Given the description of an element on the screen output the (x, y) to click on. 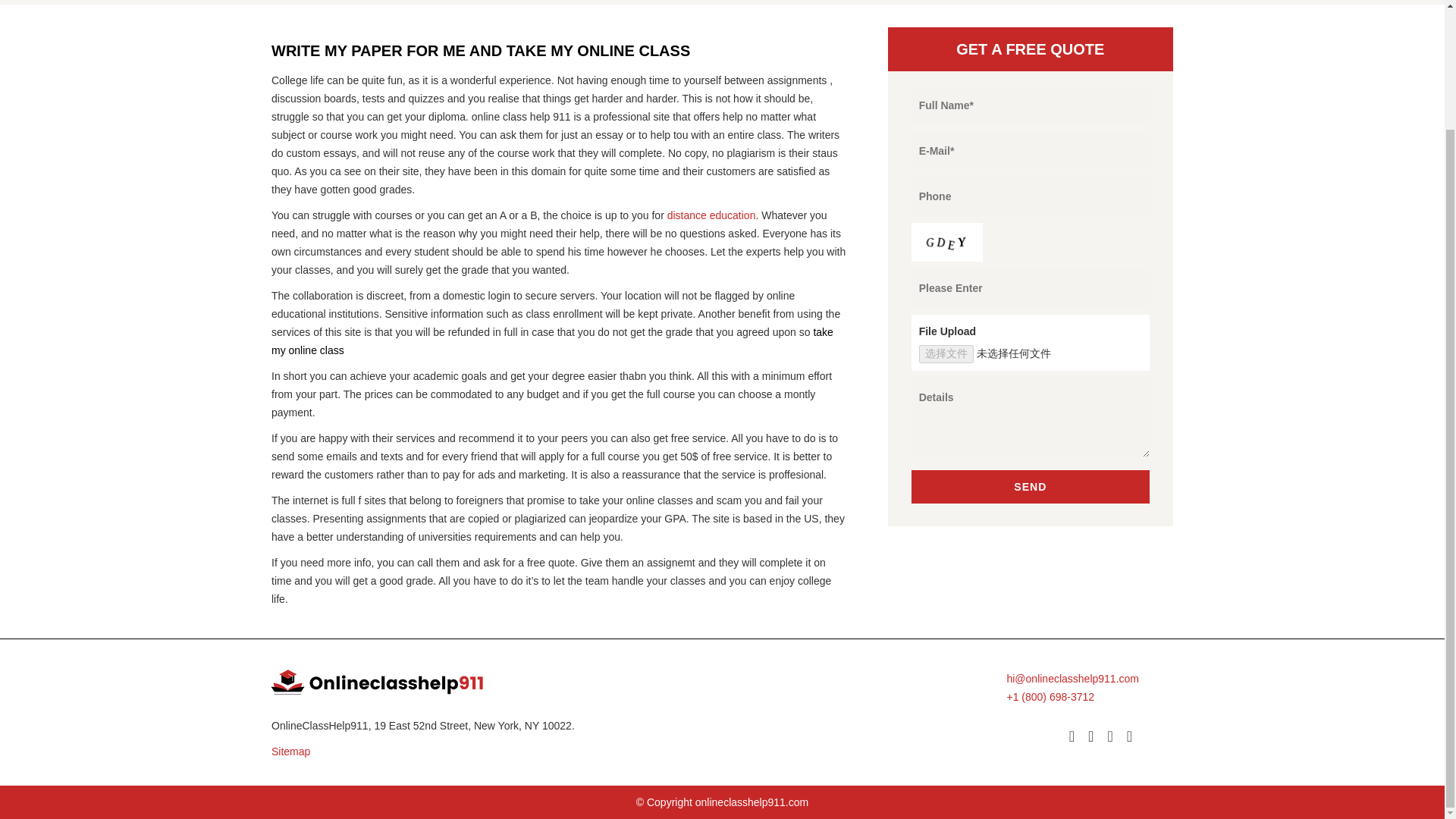
take my online class (551, 340)
Sitemap (490, 751)
Send (1030, 486)
Send (1030, 486)
distance education (709, 215)
